Given the description of an element on the screen output the (x, y) to click on. 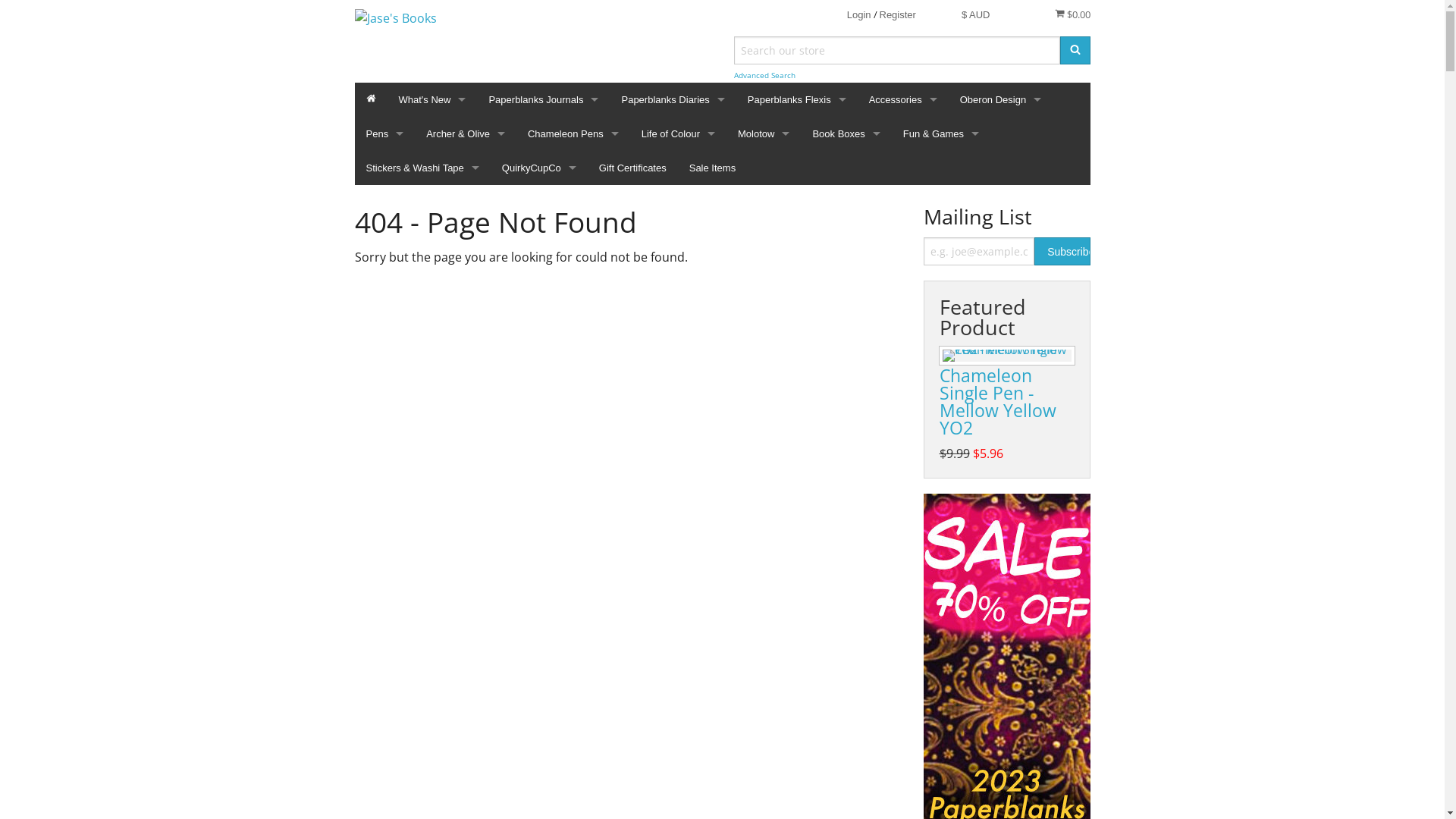
Oberon Design Element type: text (1000, 99)
Esprit de Lacombe Collection Element type: text (796, 698)
Pencil Cases (NEW TITLES) Element type: text (902, 357)
Search Element type: text (1074, 50)
Celestial Planisphere Element type: text (796, 630)
Ink Refills Element type: text (573, 562)
Week-at-a-Time SLIM Element type: text (672, 357)
Pen Loops Element type: text (902, 323)
Bukhara Element type: text (542, 596)
Black Moroccan Element type: text (796, 425)
Molotow Element type: text (763, 133)
Filing & Storage Element type: text (902, 255)
Book Boxes Element type: text (845, 133)
Jewellery - Hairclips, Necklaces, Earrings Element type: text (1000, 255)
Register Element type: text (897, 14)
Firebird Element type: text (796, 766)
Aurelia Element type: text (542, 425)
Day-at-a-Time MIDI Element type: text (672, 255)
$0.00 Element type: text (1071, 14)
Paperblanks Address Books Element type: text (902, 152)
All Products Element type: text (573, 186)
Embellished Manuscripts (NEW TITLES) Element type: text (542, 220)
Baroque Ventaglio Element type: text (542, 459)
Nibs and Tweezers Element type: text (573, 528)
Chameleon Single Pen - Mellow Yellow YO2 Element type: text (996, 401)
Chameleon Kidz! (NEW) Element type: text (573, 255)
New York Deco (NEW TITLE) Element type: text (542, 152)
Chameleon Fineliners (SALE) Element type: text (573, 289)
Aloha Element type: text (542, 323)
Paperblanks Diaries Element type: text (672, 99)
Rare Paperblanks Element type: text (542, 289)
Business Planners - Flexi Ultra Element type: text (672, 152)
Life of Colour Element type: text (678, 133)
Colouring Book/Cards Element type: text (573, 596)
Azure Element type: text (796, 357)
Guest Books (NEW TITLES) Element type: text (902, 459)
Single Pens Element type: text (573, 459)
Bavarian Wildflower Element type: text (796, 391)
Refills and Inserts Element type: text (1000, 220)
Old Leather Collection Element type: text (542, 255)
Aureo Element type: text (796, 323)
Daphnis and Chloe Element type: text (542, 766)
Celebrating Charlie Chaplin Element type: text (542, 698)
Calypso Element type: text (796, 562)
Chameleon Blending System (NEW) Element type: text (573, 220)
Flexi Diaries Element type: text (672, 186)
Chameleon Single Pen - Mellow Yellow YO2 Element type: hover (1005, 355)
Black Moroccan Bold Element type: text (796, 459)
Pen Sets Element type: text (573, 391)
Week-at-a-Time MAXI Element type: text (672, 425)
Paperblanks Flexis Element type: text (796, 99)
2023 Diaries - $4, $5, $6 Element type: text (672, 528)
ALL Flexis Softcover Element type: text (796, 152)
Archer & Olive Element type: text (465, 133)
Dot-Grid Planners Element type: text (902, 425)
Paperblanks Washi Tape (NEW TITLES) Element type: text (902, 391)
Stickers & Washi Tape Element type: text (422, 167)
Android Jones Element type: text (542, 357)
Pens Element type: text (384, 133)
22 Pen Set Element type: text (573, 323)
Sketchbooks Element type: text (902, 493)
Gift Certificates Element type: text (632, 167)
5-Year Snapshot Journals Element type: text (902, 528)
Dharma Dragon Element type: text (796, 664)
Login Element type: text (859, 14)
Week-at-a-Time MIDI Element type: text (672, 391)
Astronomica Element type: text (796, 255)
Week-at-a-Time ULTRA Element type: text (672, 459)
Paperblanks Journals Element type: text (542, 99)
Blue Velvet Element type: text (796, 493)
Belle Epoque Element type: text (542, 493)
Week-at-a-Time MINI Element type: text (672, 323)
Special Editions (NEW TITLES) Element type: text (542, 186)
Bookmarks (NEW TITLES) Element type: text (902, 186)
First Folio Element type: text (796, 801)
Sale Items Element type: text (711, 167)
Anticipation Element type: text (796, 220)
Day-at-a-Time ULTRA Element type: text (672, 289)
Subscribe Element type: hover (979, 251)
Fun & Games Element type: text (940, 133)
52 Pen Set Element type: text (573, 357)
Week-at-a-Time GRANDE Element type: text (672, 493)
Arabic Artistry Element type: text (542, 391)
$ AUD Element type: text (975, 14)
Butterfly Garden Element type: text (796, 528)
Celeste Element type: text (796, 596)
Jigsaw Puzzles Element type: text (902, 289)
Small Leather Journals Element type: text (1000, 152)
QuirkyCupCo Element type: text (538, 167)
Filigree Floral Ivory Element type: text (796, 732)
Subscribe Element type: text (1061, 251)
Advanced Search Element type: text (764, 75)
Blue Velvet Element type: text (542, 528)
Day-at-a-Time MINI Element type: text (672, 220)
Chameleon Pens Element type: text (573, 133)
Large Leather Journals Element type: text (1000, 186)
Cockerell Marbled Paper Element type: text (542, 732)
Home Element type: hover (370, 99)
What's New Element type: text (431, 99)
Cairo Atelier Element type: text (542, 630)
Specialty Pens Element type: text (573, 493)
Aurelia Element type: text (796, 289)
Diamond Rosette Element type: text (542, 801)
Canvas Bags (NEW TITLES) Element type: text (902, 220)
Flexis Dot-Grid Planners Element type: text (796, 186)
Colour Tops Element type: text (573, 425)
Accessories Element type: text (902, 99)
